Given the description of an element on the screen output the (x, y) to click on. 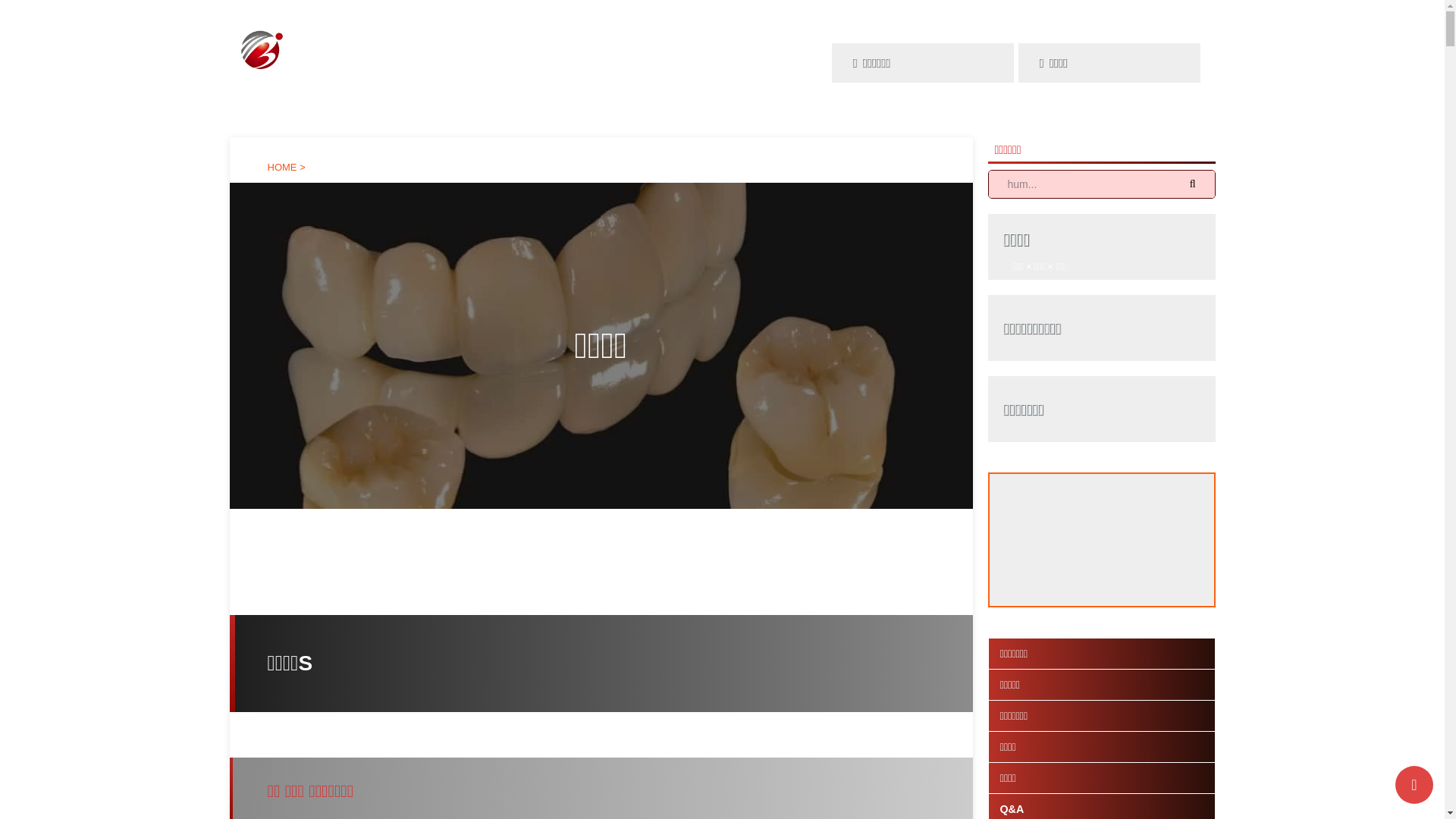
 03-5309-2801 Element type: text (1015, 20)
Q&A Element type: text (1024, 113)
HOME Element type: text (282, 166)
